Given the description of an element on the screen output the (x, y) to click on. 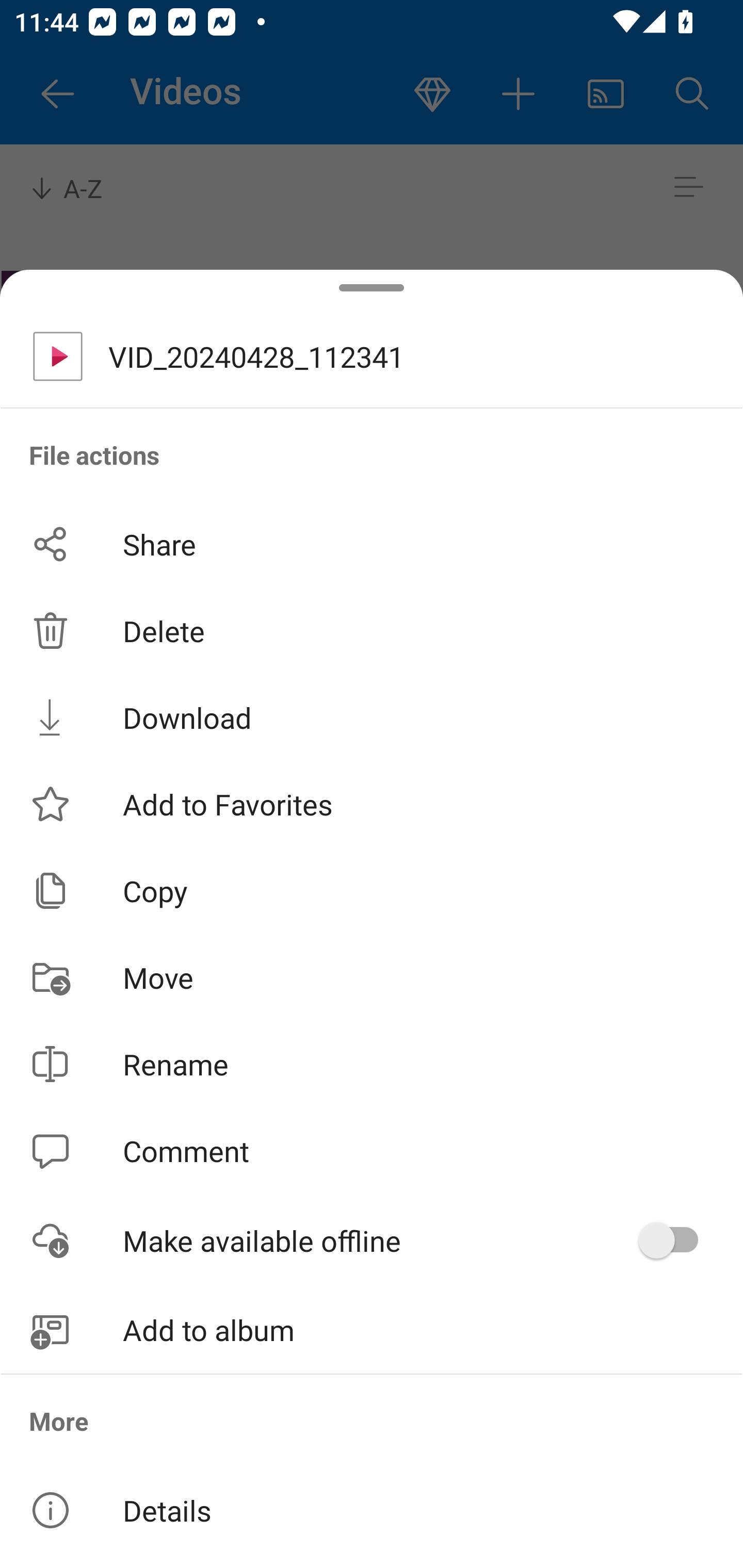
Share button Share (371, 544)
Delete button Delete (371, 631)
Download button Download (371, 717)
Add to Favorites button Add to Favorites (371, 803)
Copy button Copy (371, 890)
Move button Move (371, 977)
Rename button Rename (371, 1063)
Comment button Comment (371, 1150)
Make offline operation (674, 1240)
Add to album button Add to album (371, 1329)
Details button Details (371, 1510)
